Given the description of an element on the screen output the (x, y) to click on. 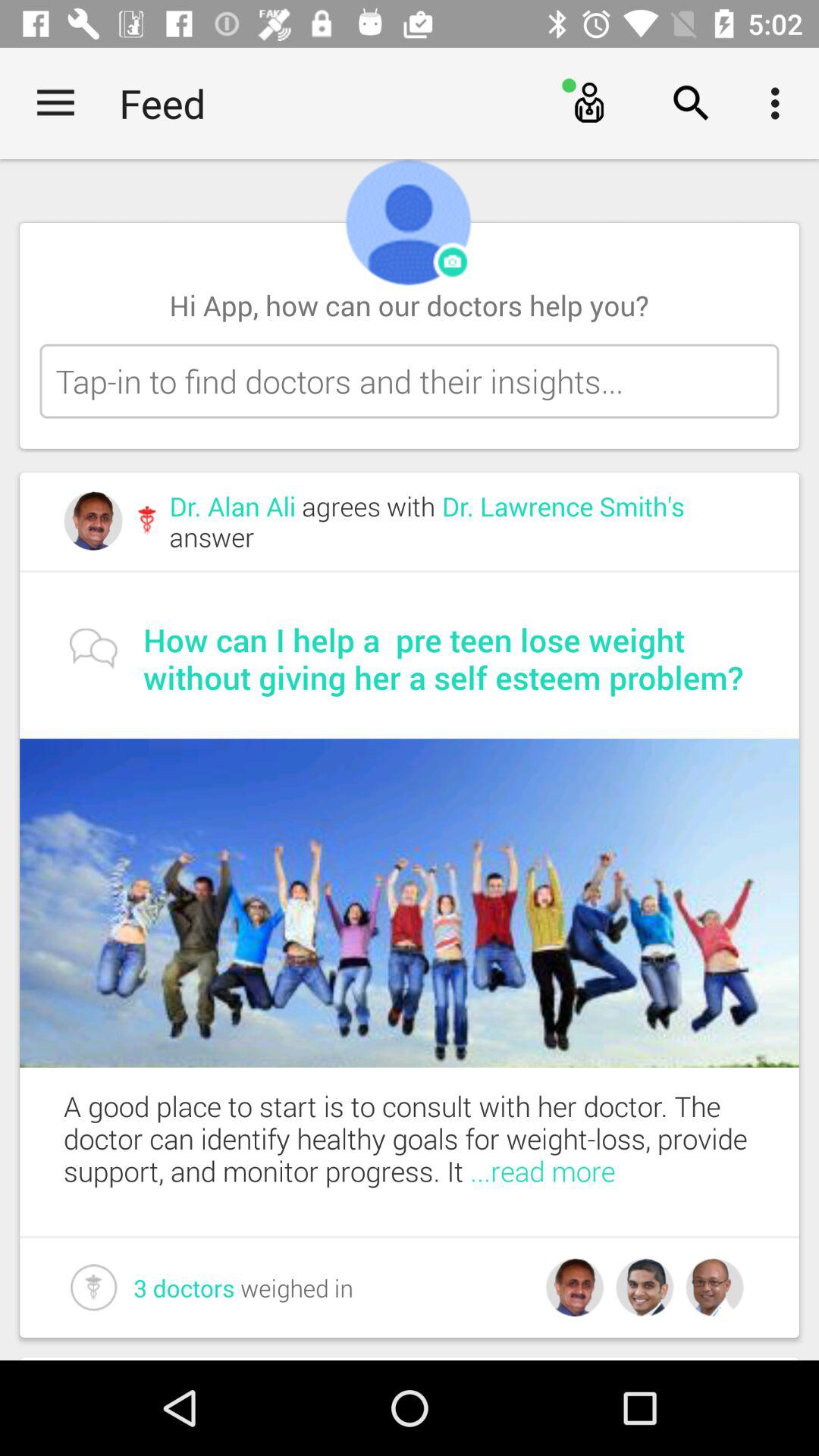
turn off the icon next to feed (55, 103)
